Given the description of an element on the screen output the (x, y) to click on. 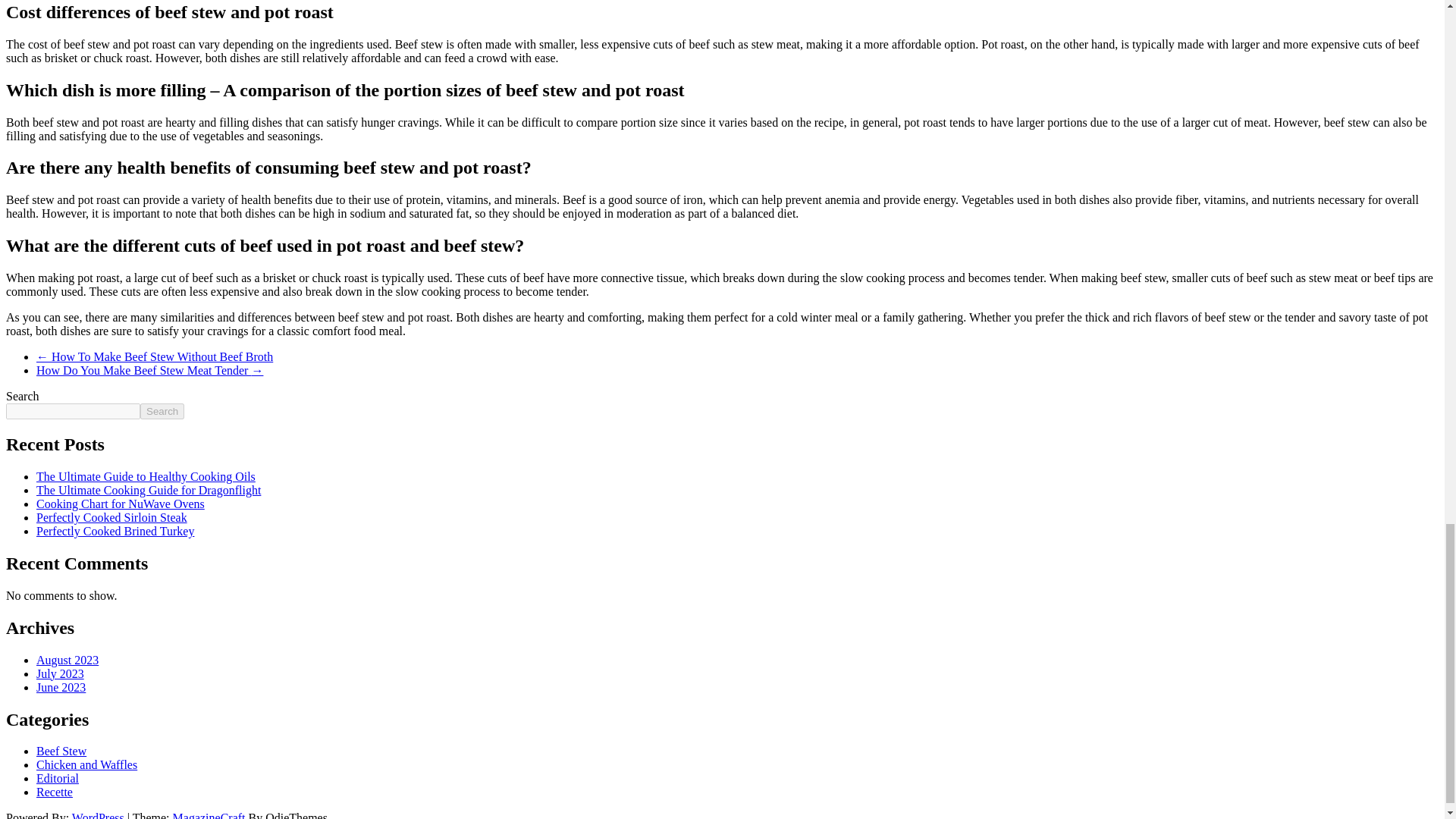
Perfectly Cooked Brined Turkey (114, 530)
Editorial (57, 778)
August 2023 (67, 659)
Perfectly Cooked Sirloin Steak (111, 517)
June 2023 (60, 686)
Chicken and Waffles (86, 764)
Cooking Chart for NuWave Ovens (120, 503)
The Ultimate Cooking Guide for Dragonflight (148, 490)
Search (161, 411)
Beef Stew (60, 750)
